Given the description of an element on the screen output the (x, y) to click on. 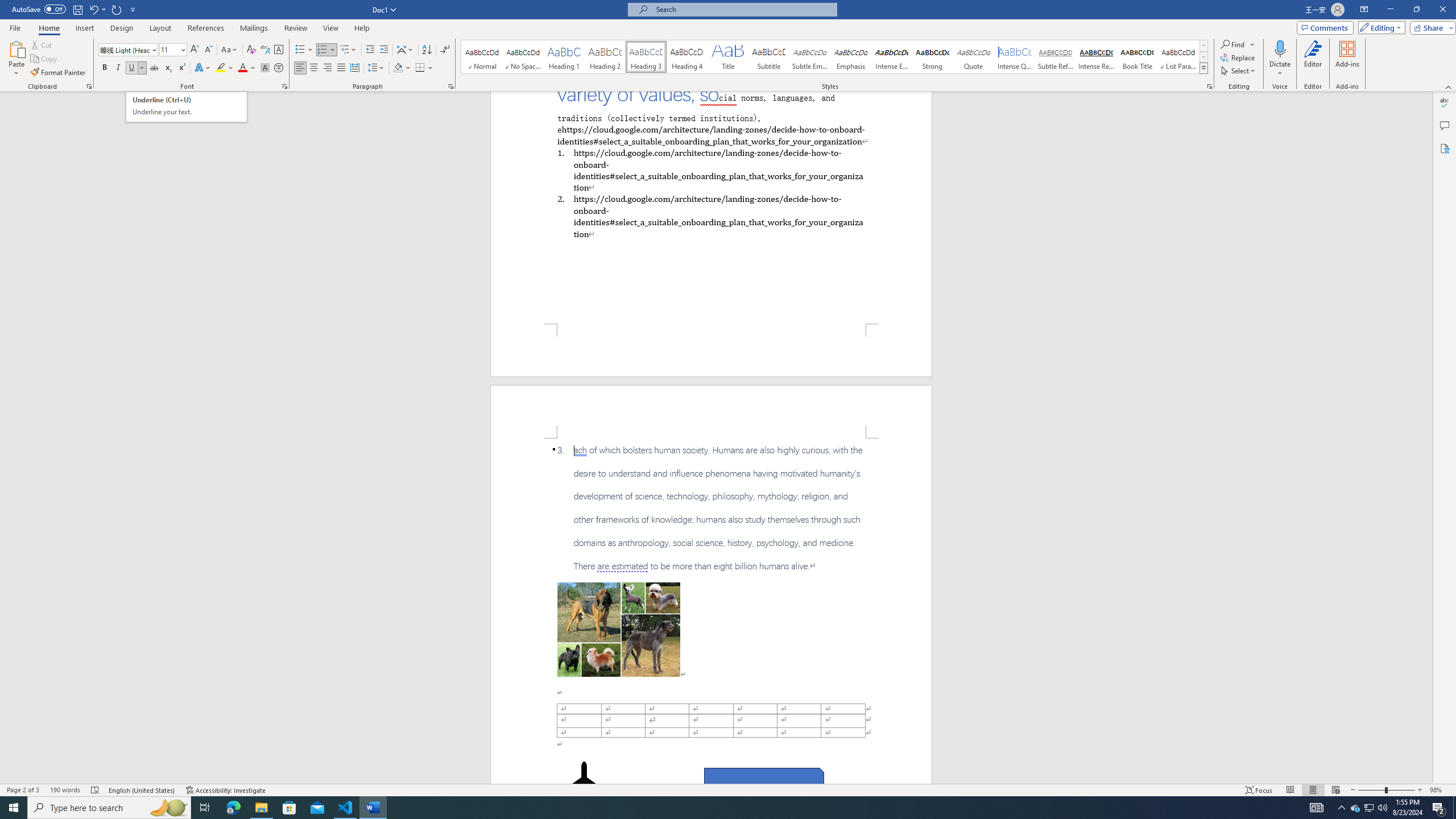
1. (186, 106)
Accessibility (710, 169)
